Given the description of an element on the screen output the (x, y) to click on. 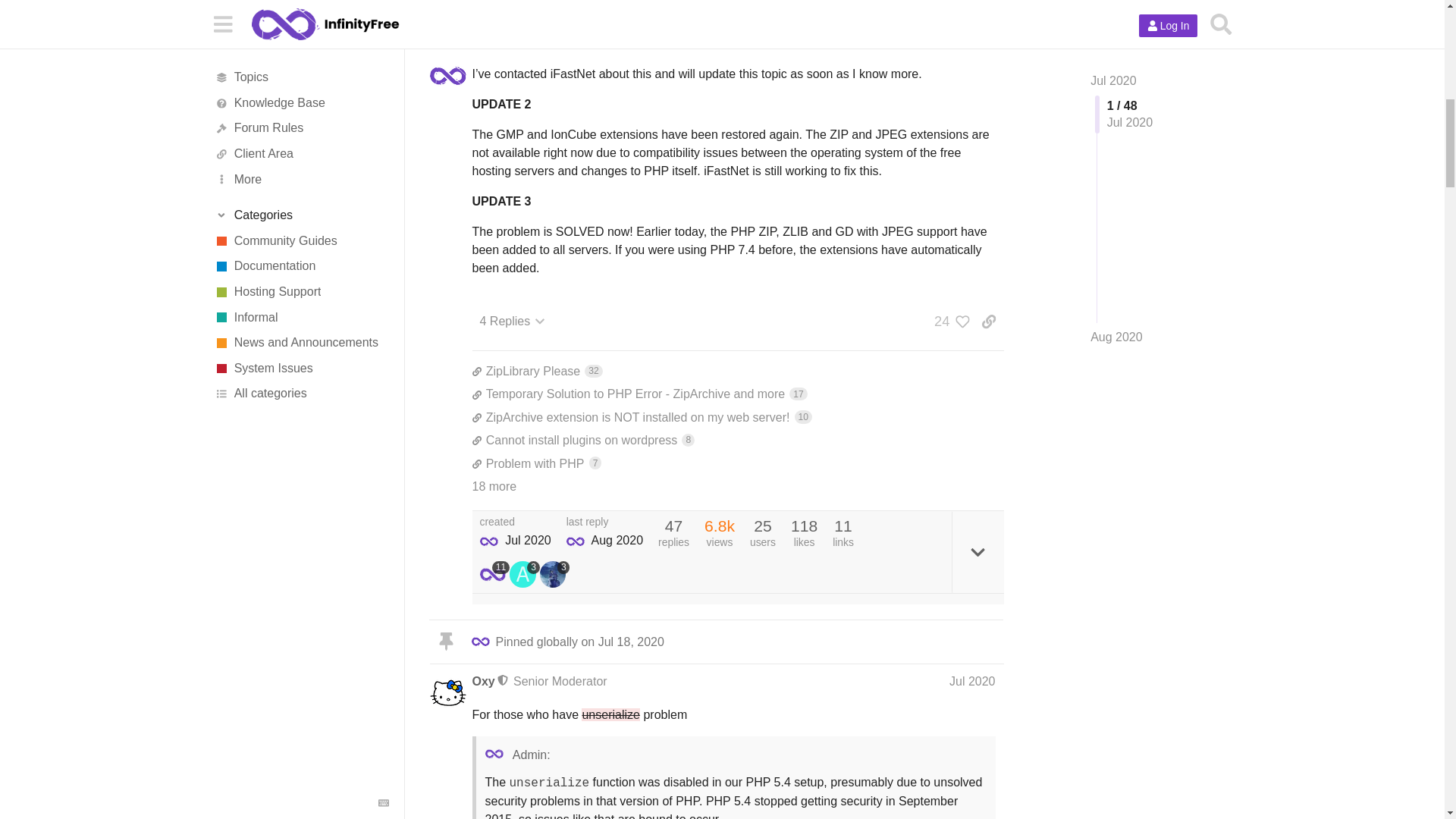
24 (737, 463)
4 Replies (737, 417)
18 more (737, 393)
